Given the description of an element on the screen output the (x, y) to click on. 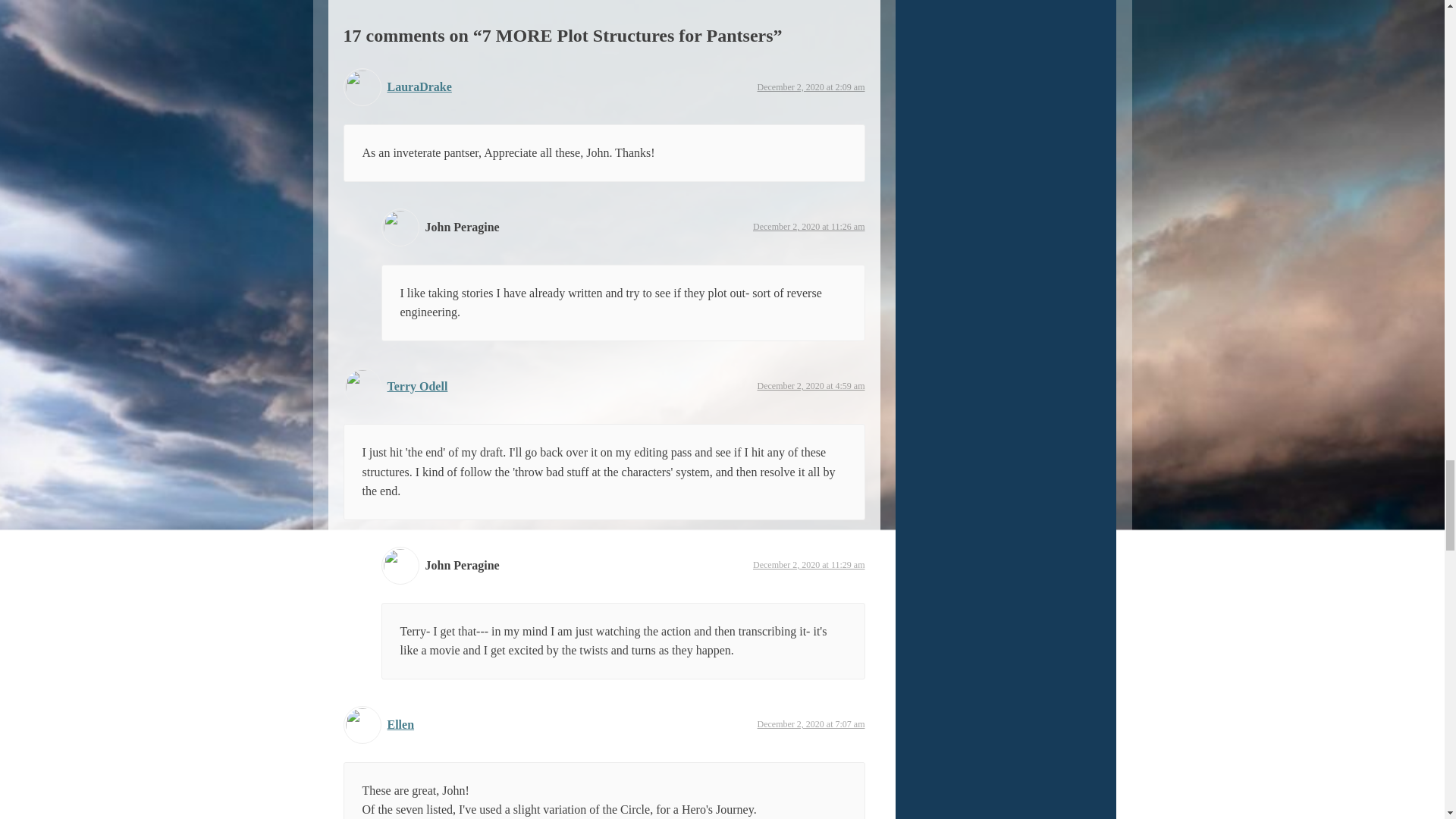
December 2, 2020 at 11:29 am (808, 564)
December 2, 2020 at 7:07 am (810, 724)
December 2, 2020 at 11:26 am (808, 226)
December 2, 2020 at 2:09 am (810, 86)
Ellen (400, 724)
LauraDrake (419, 86)
December 2, 2020 at 4:59 am (810, 385)
Terry Odell (416, 386)
